Given the description of an element on the screen output the (x, y) to click on. 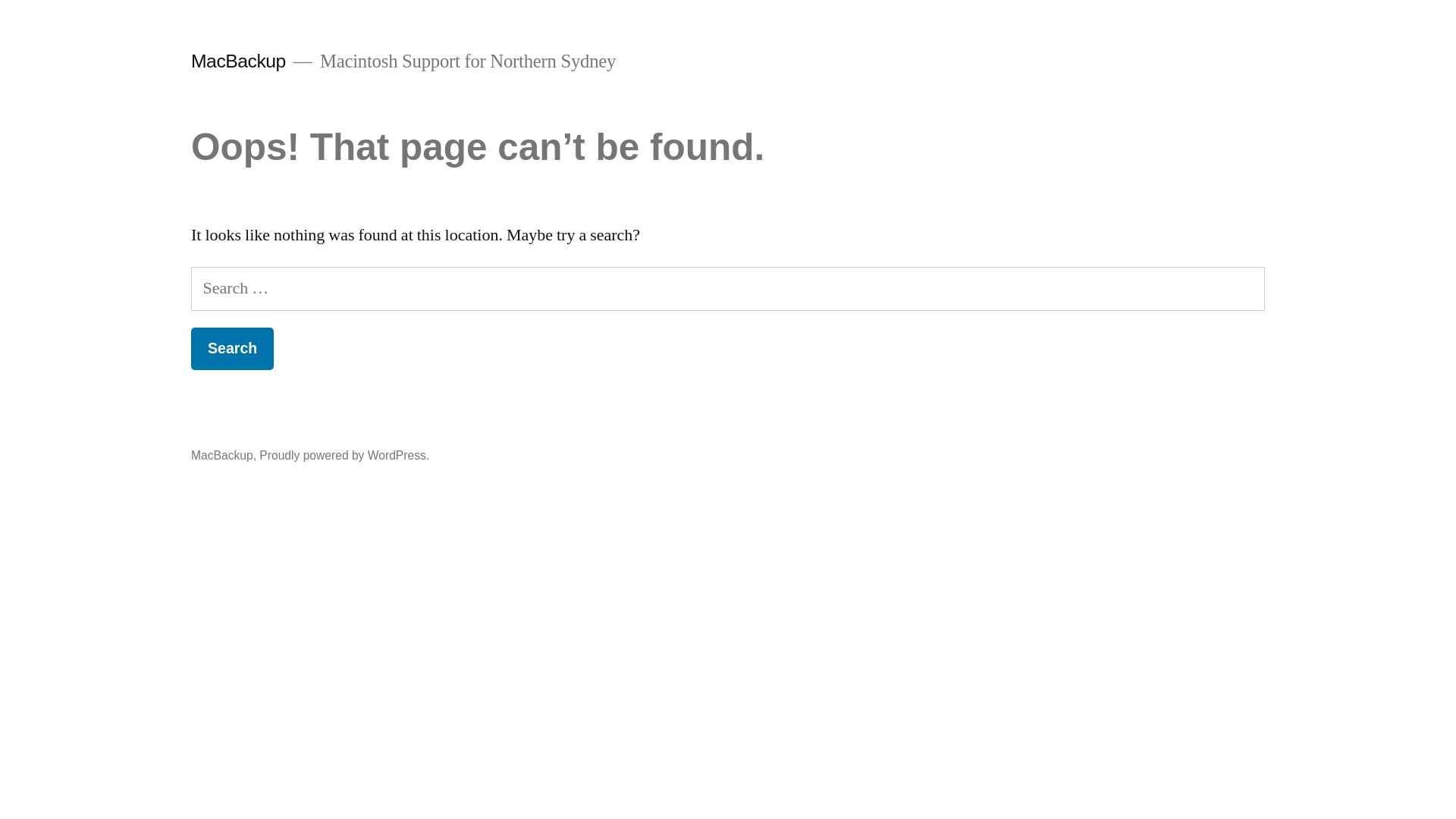
MacBackup Element type: text (238, 60)
Proudly powered by WordPress. Element type: text (344, 454)
Search Element type: text (232, 348)
MacBackup Element type: text (222, 454)
